Given the description of an element on the screen output the (x, y) to click on. 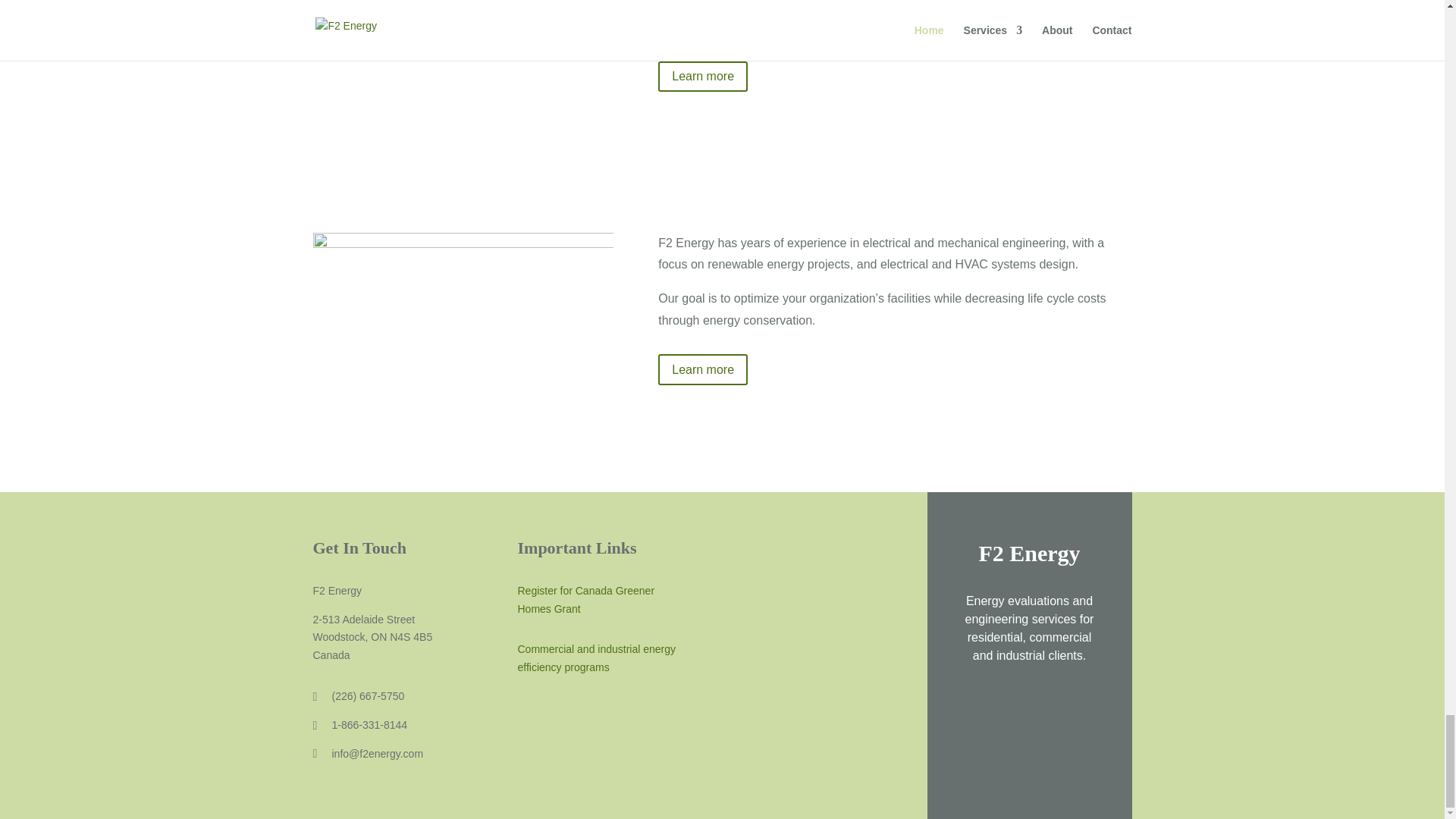
Learn more (703, 76)
Register for Canada Greener Homes Grant (584, 599)
Learn more (703, 368)
Commercial and industrial energy efficiency programs (595, 657)
